Given the description of an element on the screen output the (x, y) to click on. 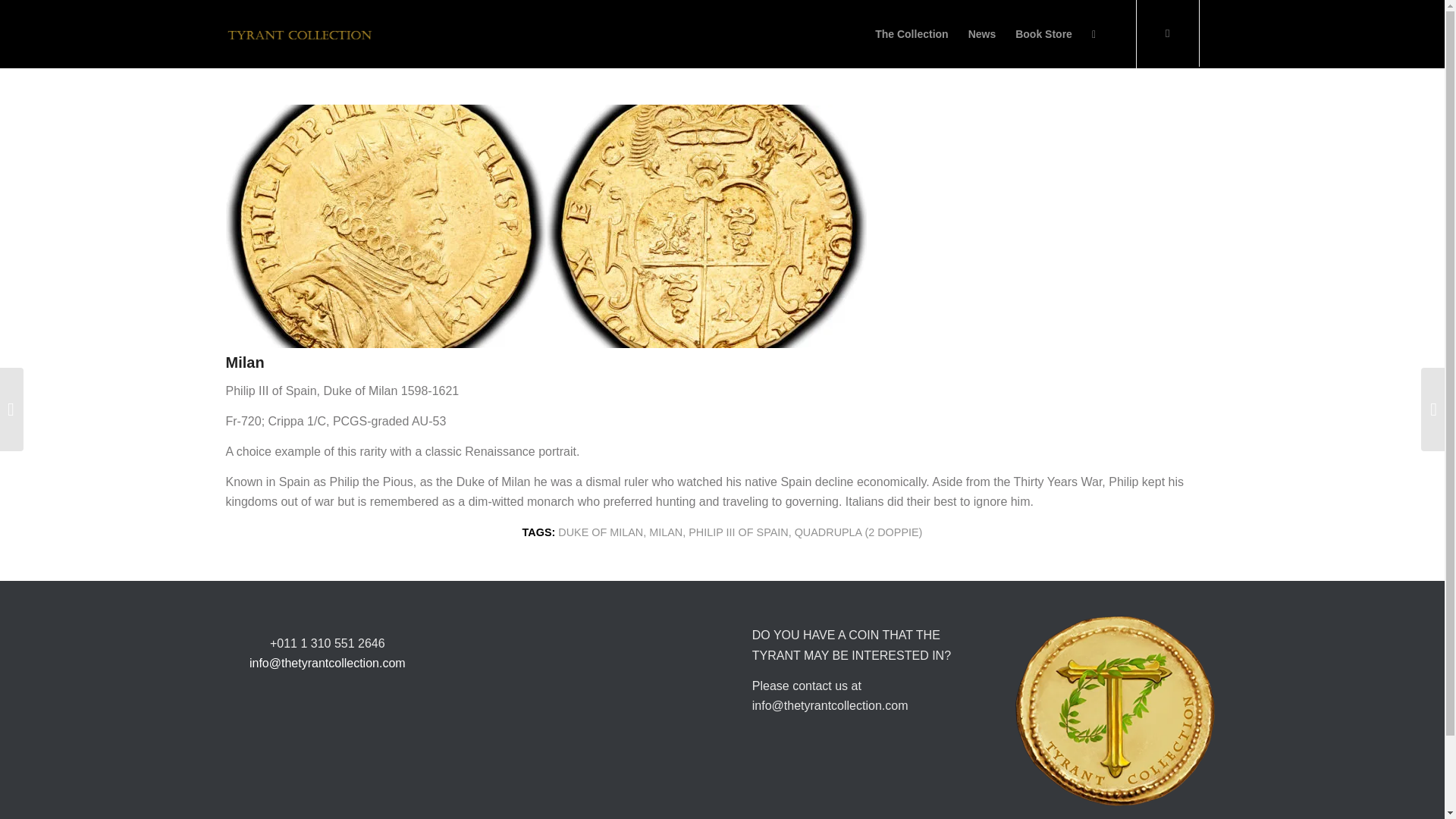
The Collection (911, 33)
